Given the description of an element on the screen output the (x, y) to click on. 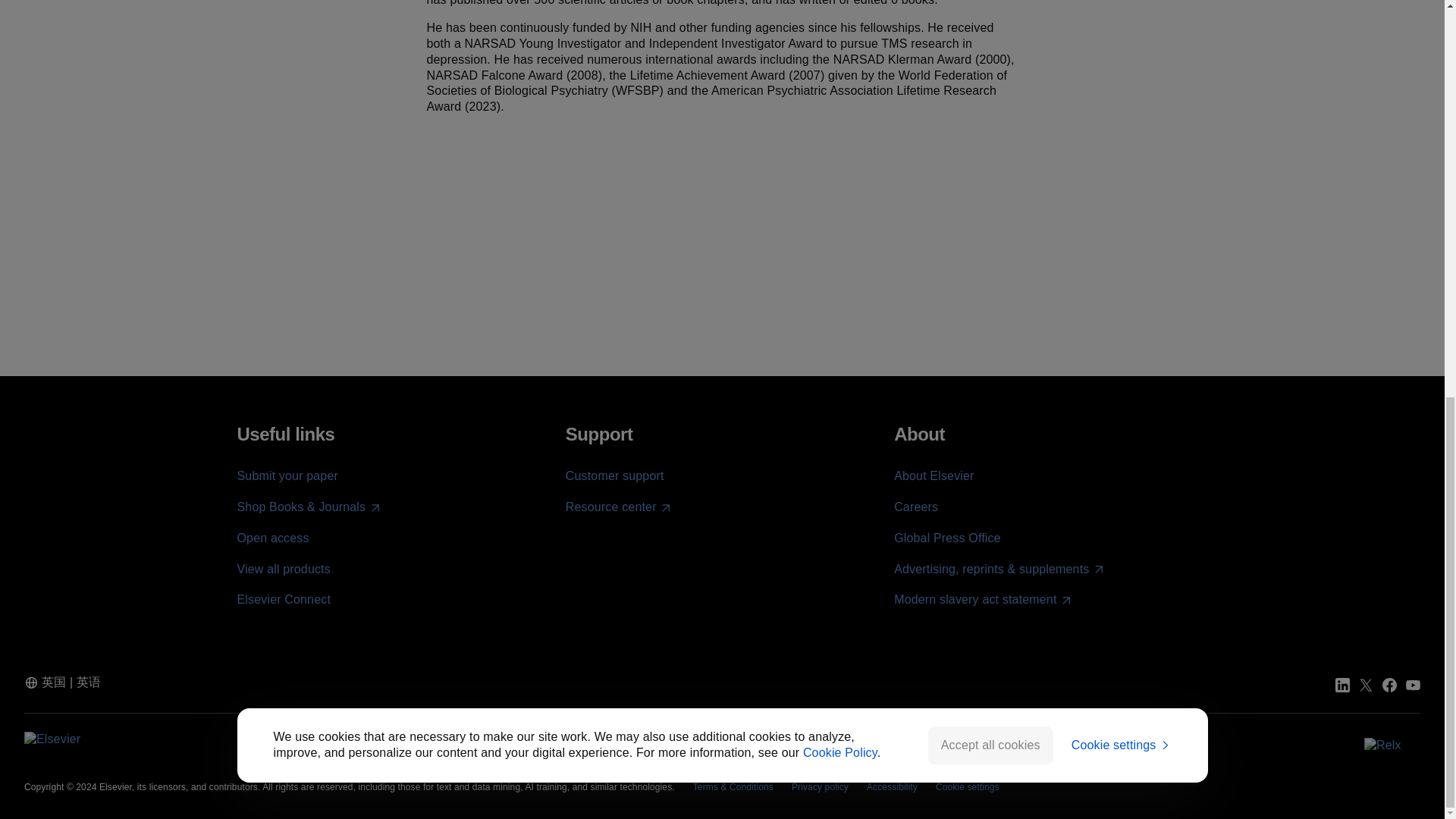
Open access (271, 537)
Careers (915, 506)
Submit your paper (286, 475)
About Elsevier (933, 475)
Resource center (618, 507)
Customer support (614, 475)
View all products (282, 568)
Elsevier Connect (282, 599)
